Given the description of an element on the screen output the (x, y) to click on. 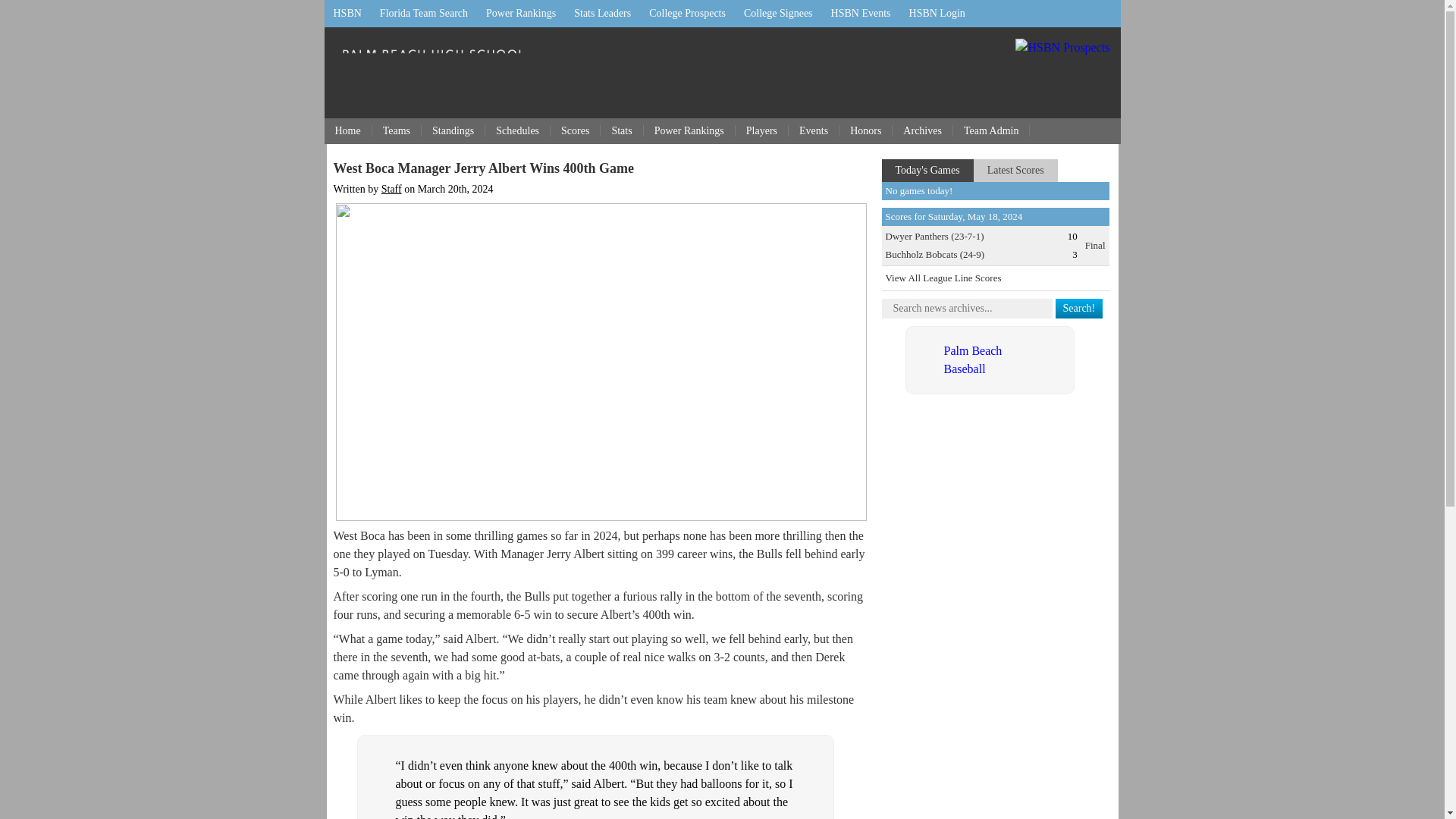
HSBN Stats Leaders (602, 13)
College Prospects (687, 13)
HSBN Clubhouse (936, 13)
High School Baseball Network (347, 13)
Search! (1079, 308)
Power Rankings (520, 13)
Teams (397, 130)
Home (348, 130)
Stats Leaders (602, 13)
HSBN (347, 13)
